Given the description of an element on the screen output the (x, y) to click on. 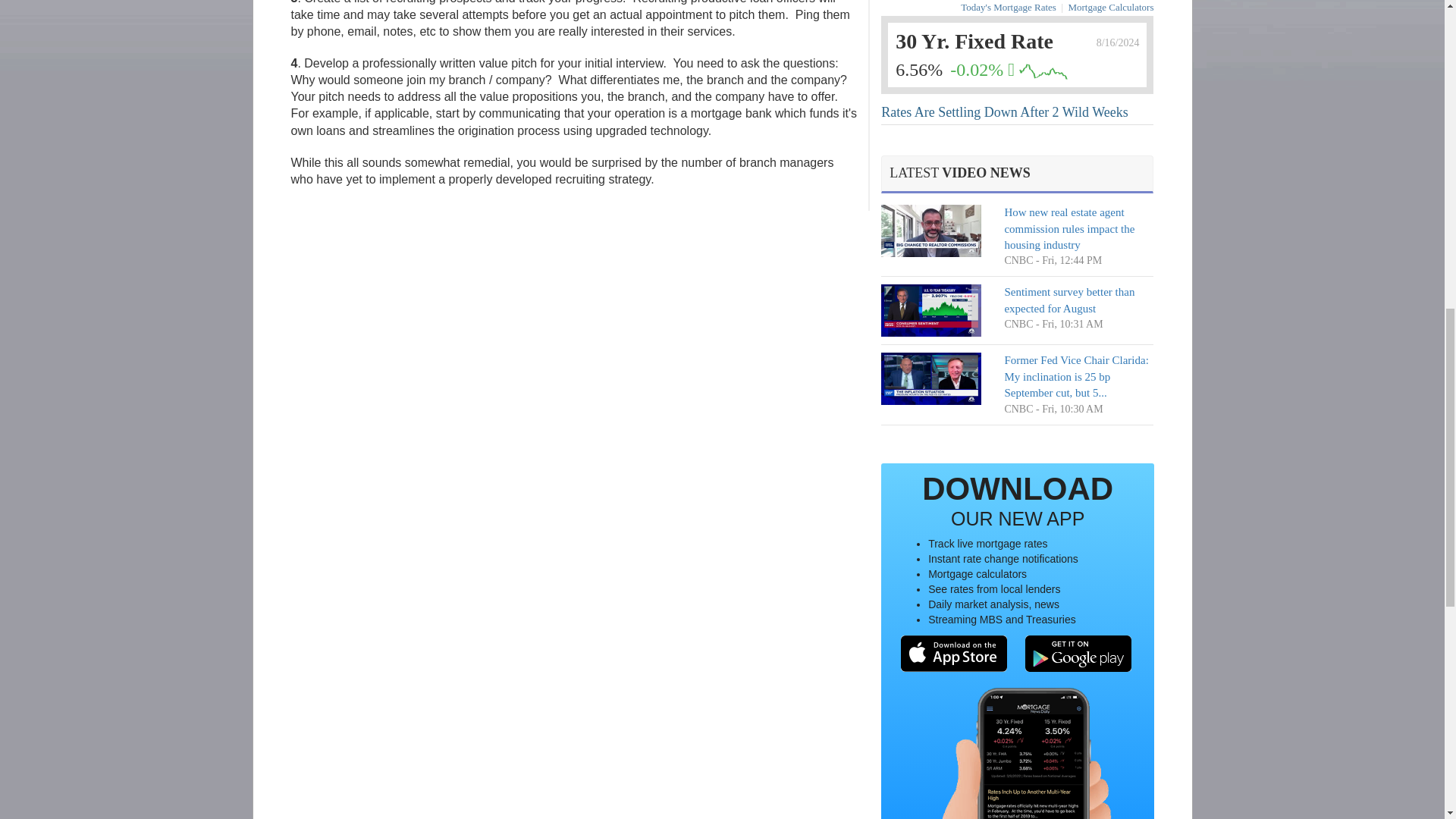
Sentiment survey better than expected for August (1069, 299)
